Given the description of an element on the screen output the (x, y) to click on. 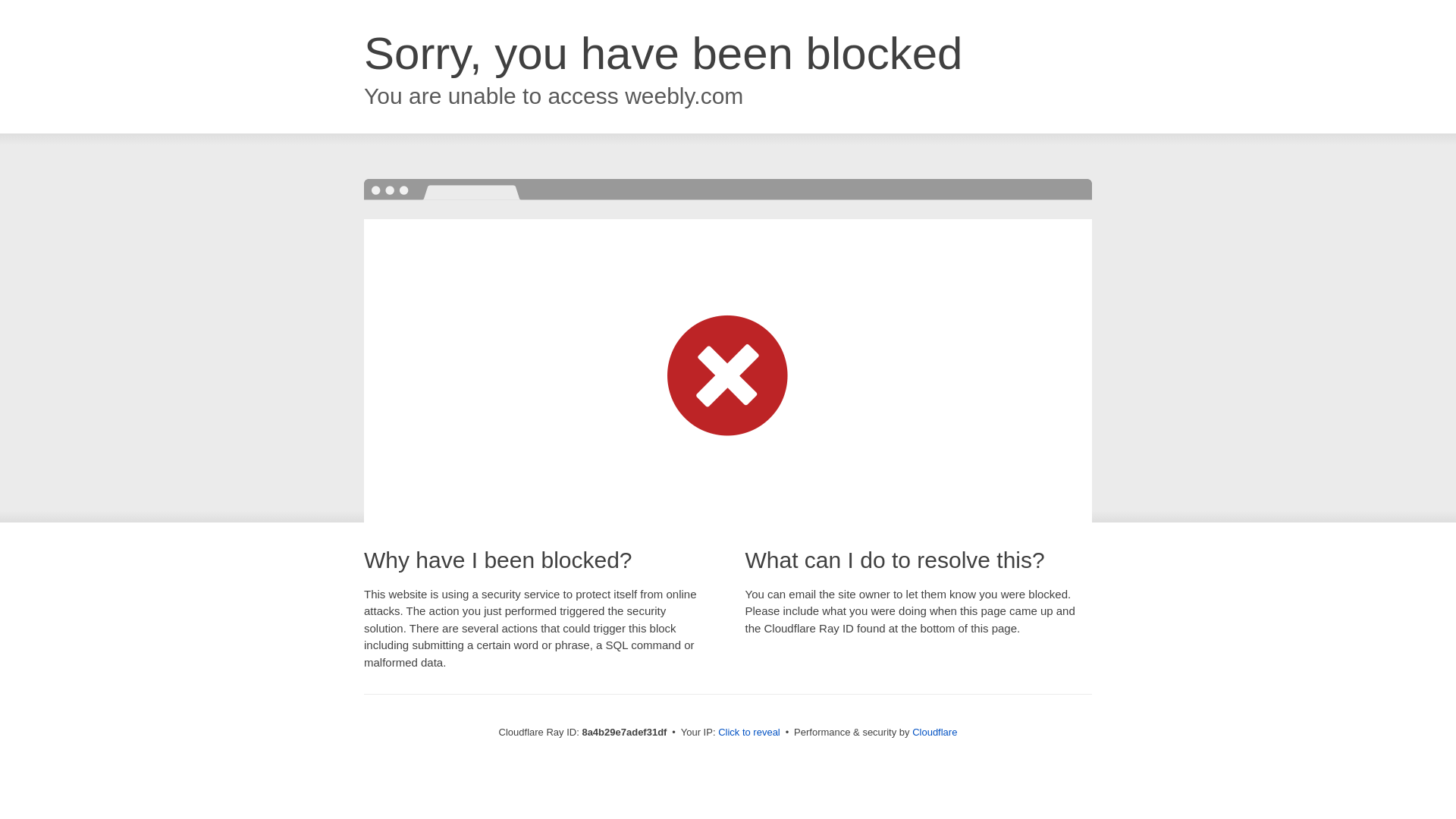
Click to reveal (748, 732)
Cloudflare (934, 731)
